Given the description of an element on the screen output the (x, y) to click on. 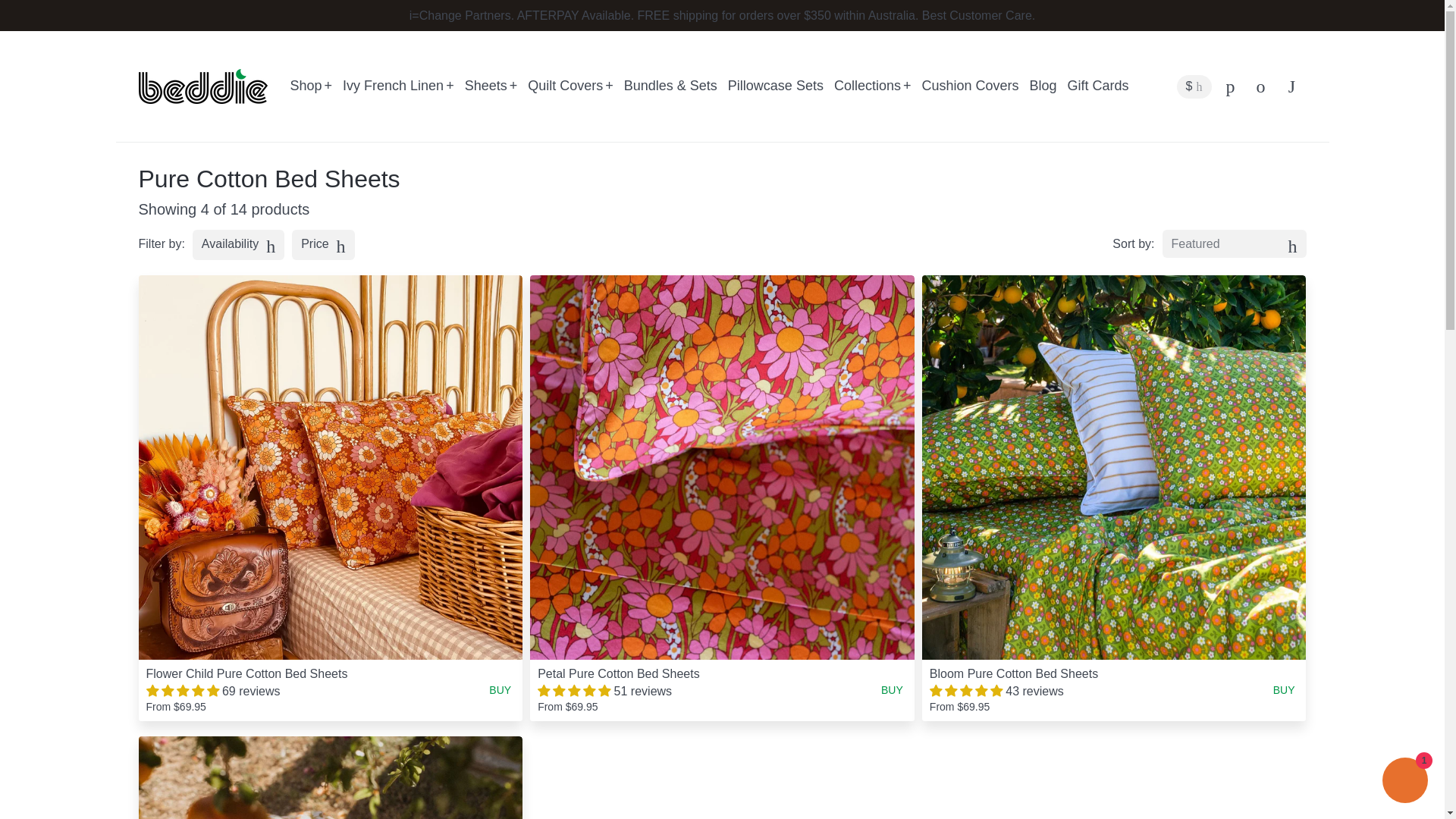
Shopify online store chat (1404, 781)
